Given the description of an element on the screen output the (x, y) to click on. 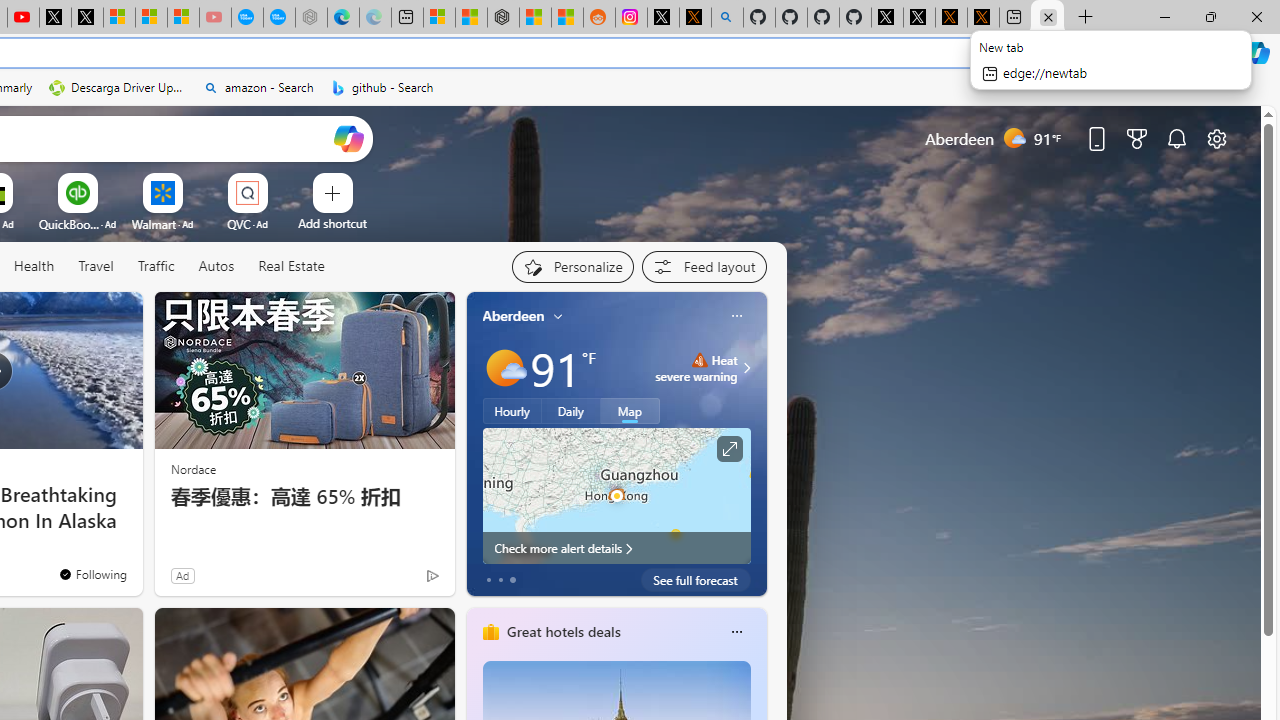
Add a site (332, 223)
Nordace - Nordace has arrived Hong Kong - Sleeping (310, 17)
Larger map  (616, 495)
Nordace - Duffels (502, 17)
Page settings (1216, 138)
